Given the description of an element on the screen output the (x, y) to click on. 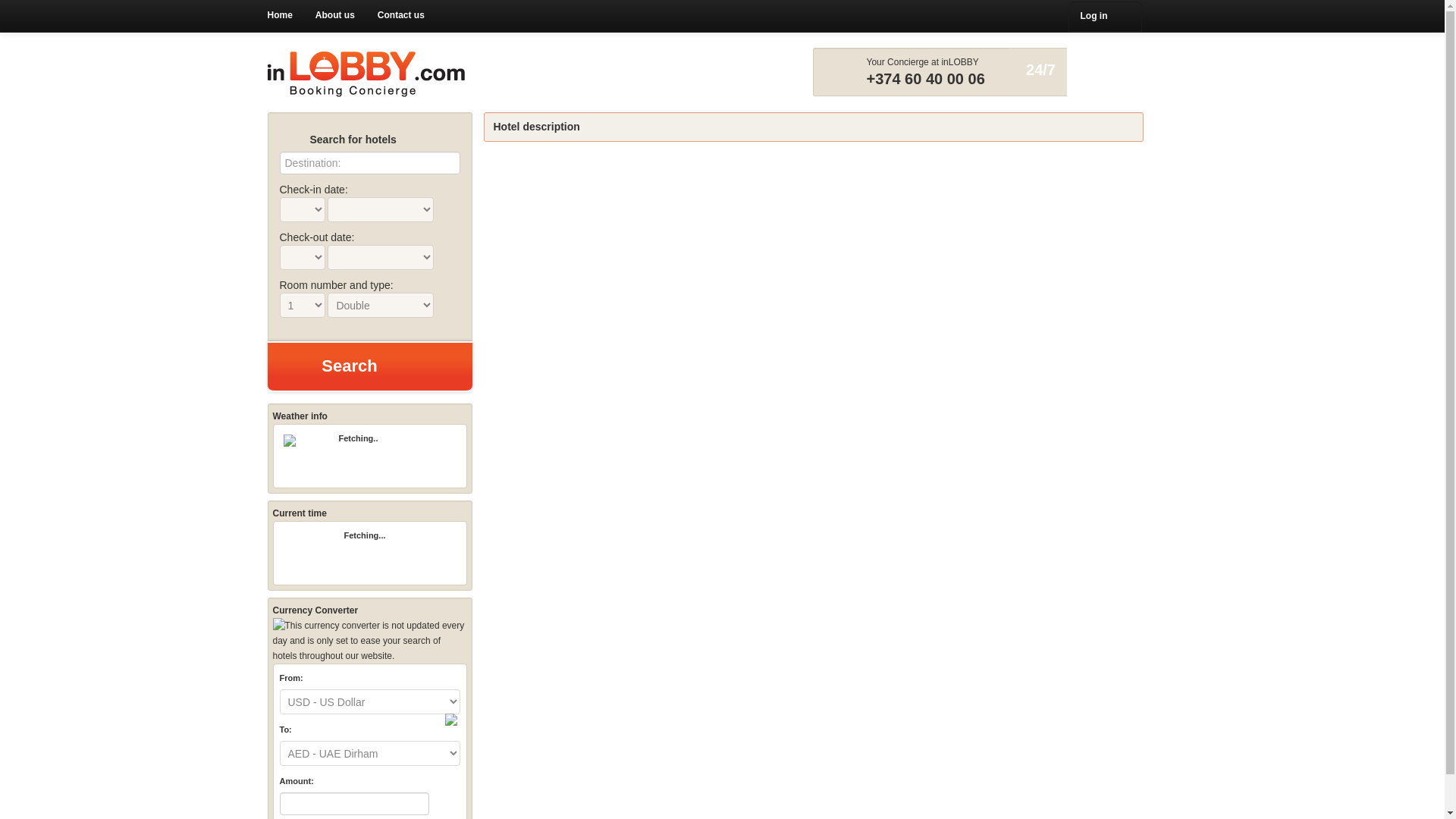
About us (335, 15)
Log in (1104, 16)
Home (280, 15)
Contact us (400, 15)
Search (368, 366)
